Given the description of an element on the screen output the (x, y) to click on. 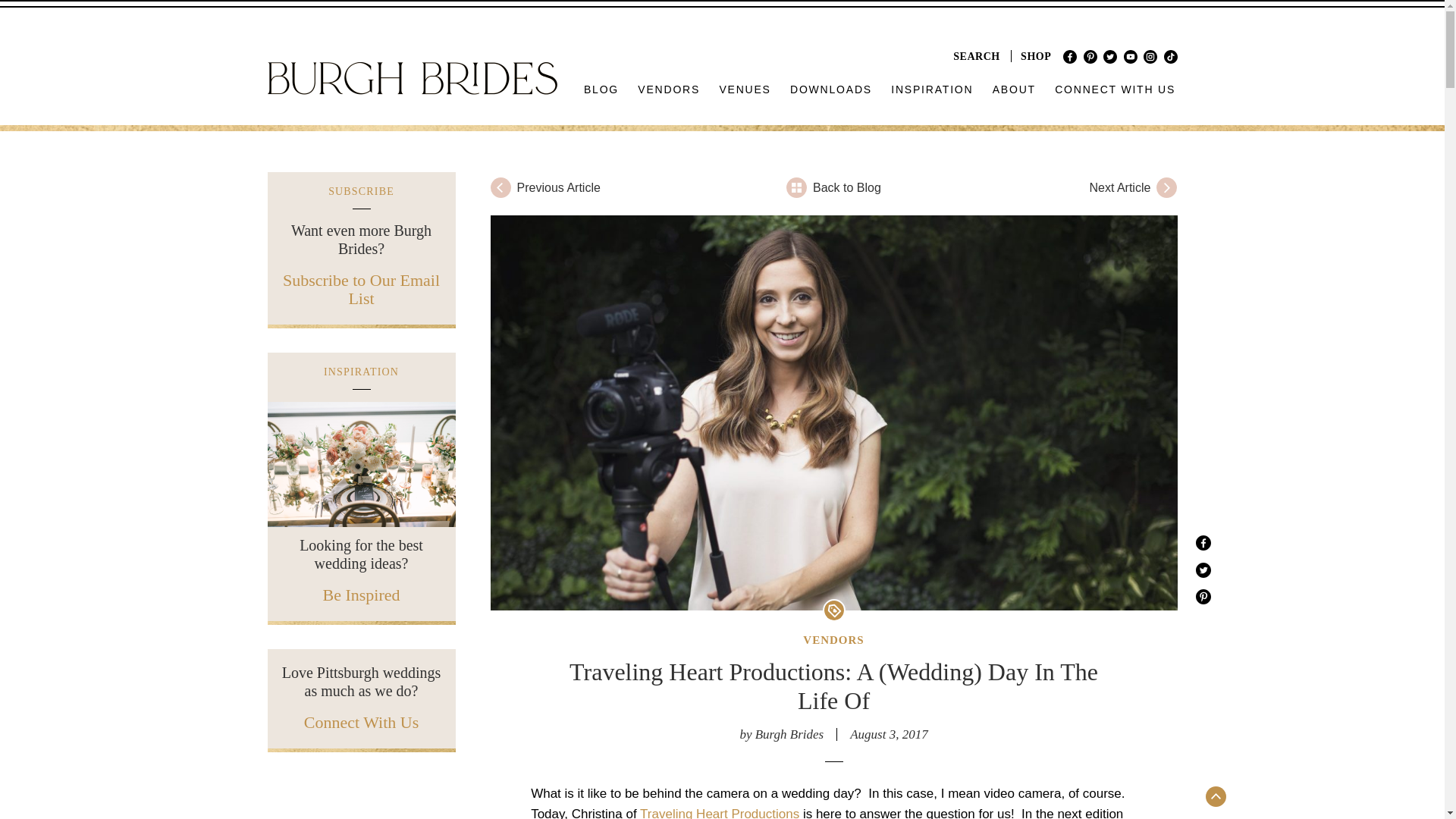
ABOUT (1013, 89)
Previous Article (604, 187)
Youtube (1130, 56)
DOWNLOADS (832, 89)
Facebook (1069, 56)
Pinterest (1090, 56)
VENDORS (668, 89)
SEARCH (976, 56)
INSPIRATION (932, 89)
Instagram (1149, 56)
Twitter (1109, 56)
SHOP (1035, 56)
TikTok (1169, 56)
CONNECT WITH US (1114, 89)
BLOG (601, 89)
